Given the description of an element on the screen output the (x, y) to click on. 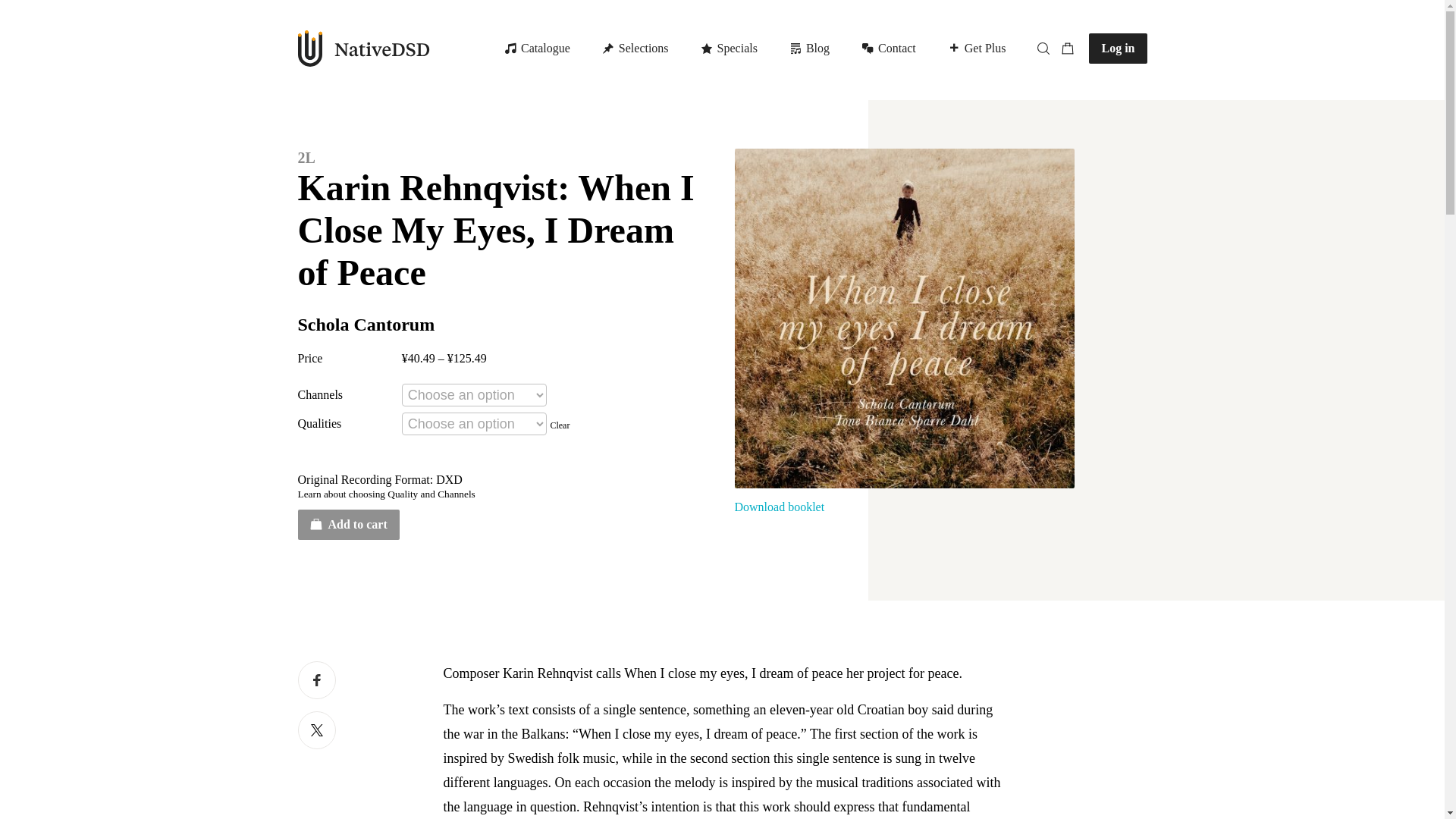
NativeDSD (363, 48)
Selections (637, 48)
NativeDSD (779, 48)
Catalogue (779, 48)
